Given the description of an element on the screen output the (x, y) to click on. 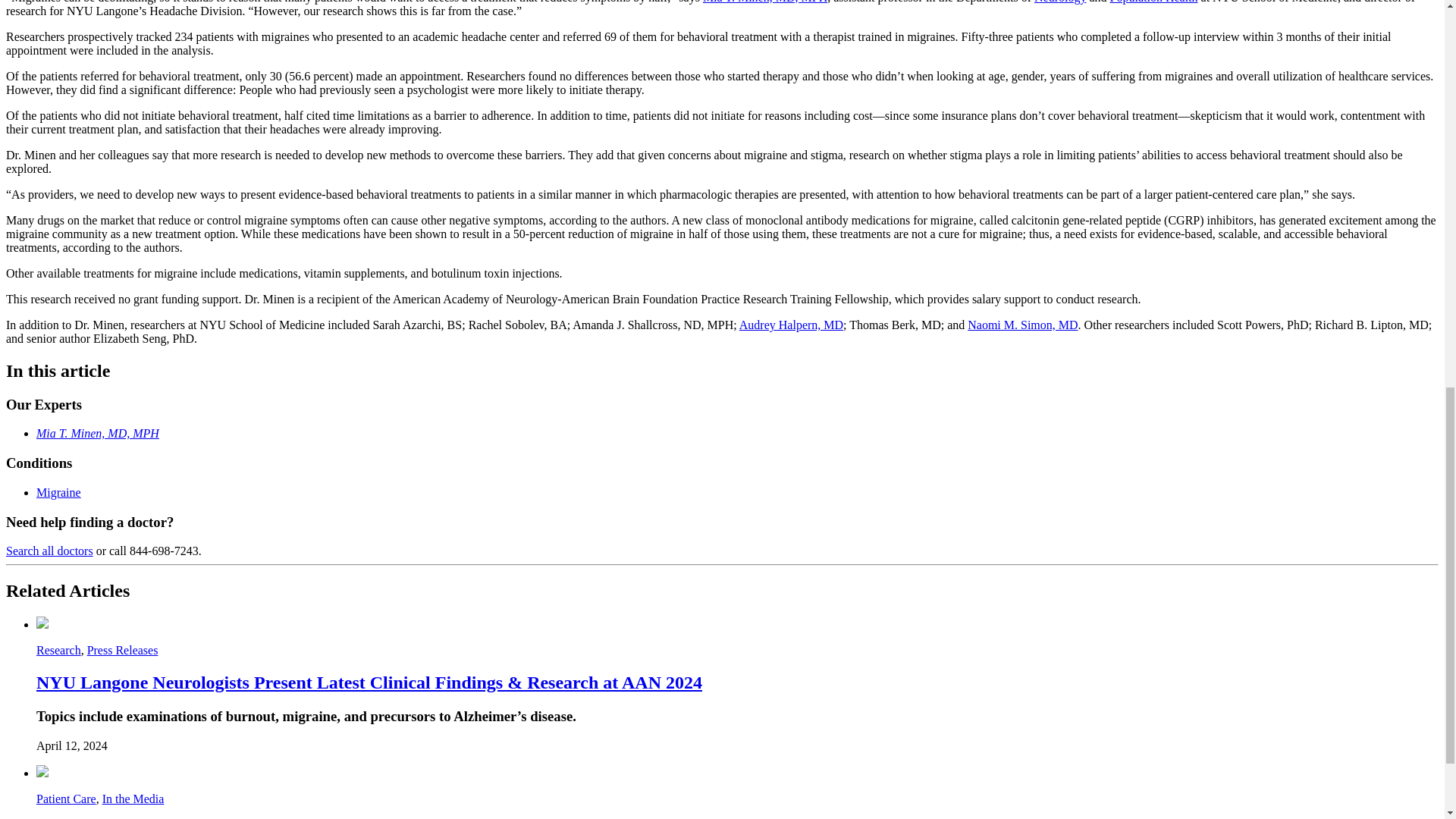
Mia T. Minen, MD, MPH (765, 2)
Patient Care (66, 798)
Mia T. Minen, MD, MPH (97, 432)
Neurology (1059, 2)
Research (58, 649)
Search all doctors (49, 550)
Audrey Halpern, MD (791, 324)
Press Releases (122, 649)
Population Health (1153, 2)
In the Media (132, 798)
